Given the description of an element on the screen output the (x, y) to click on. 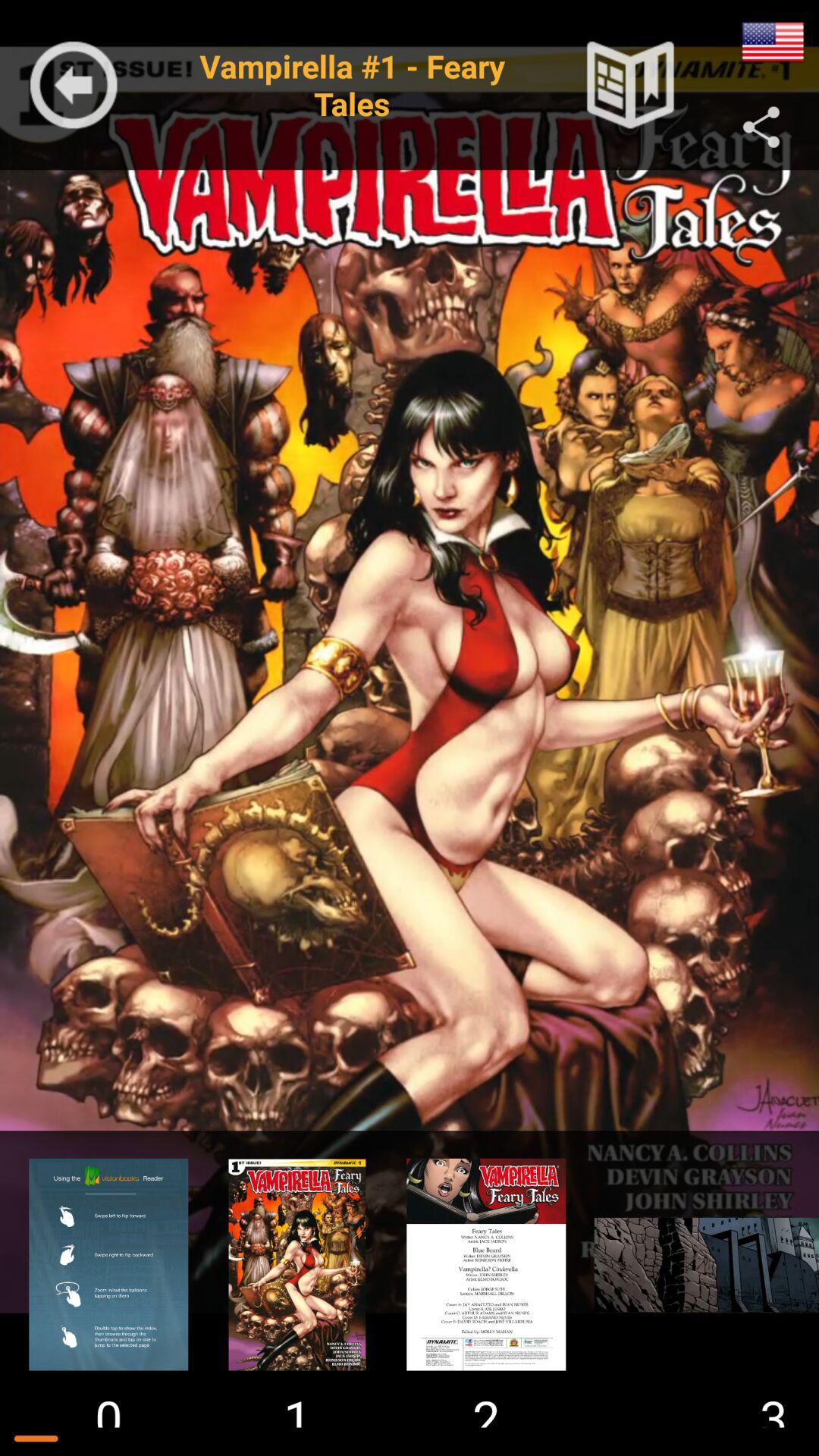
bookmark this page (630, 85)
